Given the description of an element on the screen output the (x, y) to click on. 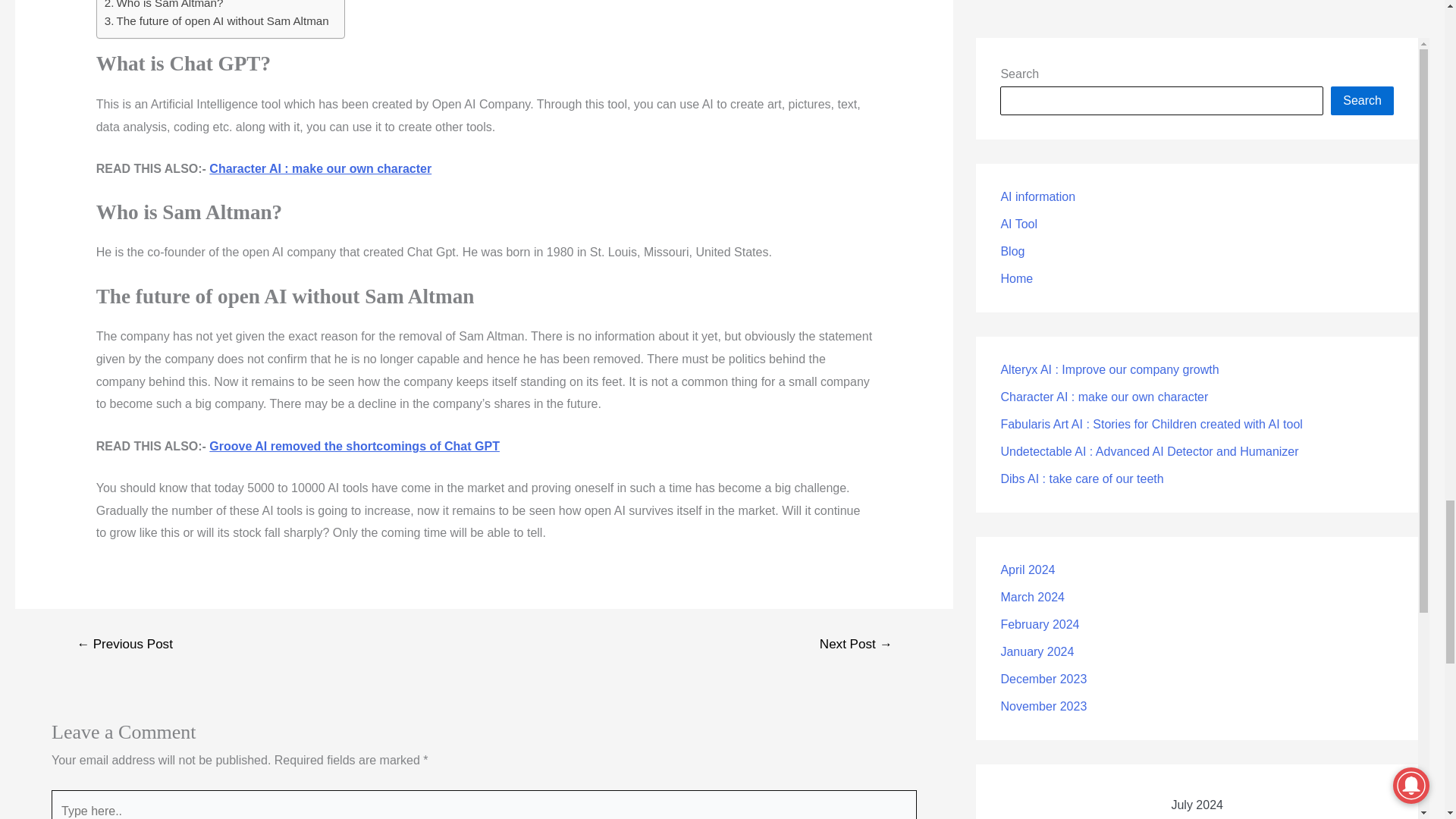
Character AI : make our own character (319, 168)
Who is Sam Altman? (164, 6)
The future of open AI without Sam Altman (216, 21)
The future of open AI without Sam Altman (216, 21)
Groove AI removed the shortcomings of Chat GPT (354, 445)
Who is Sam Altman? (164, 6)
